Given the description of an element on the screen output the (x, y) to click on. 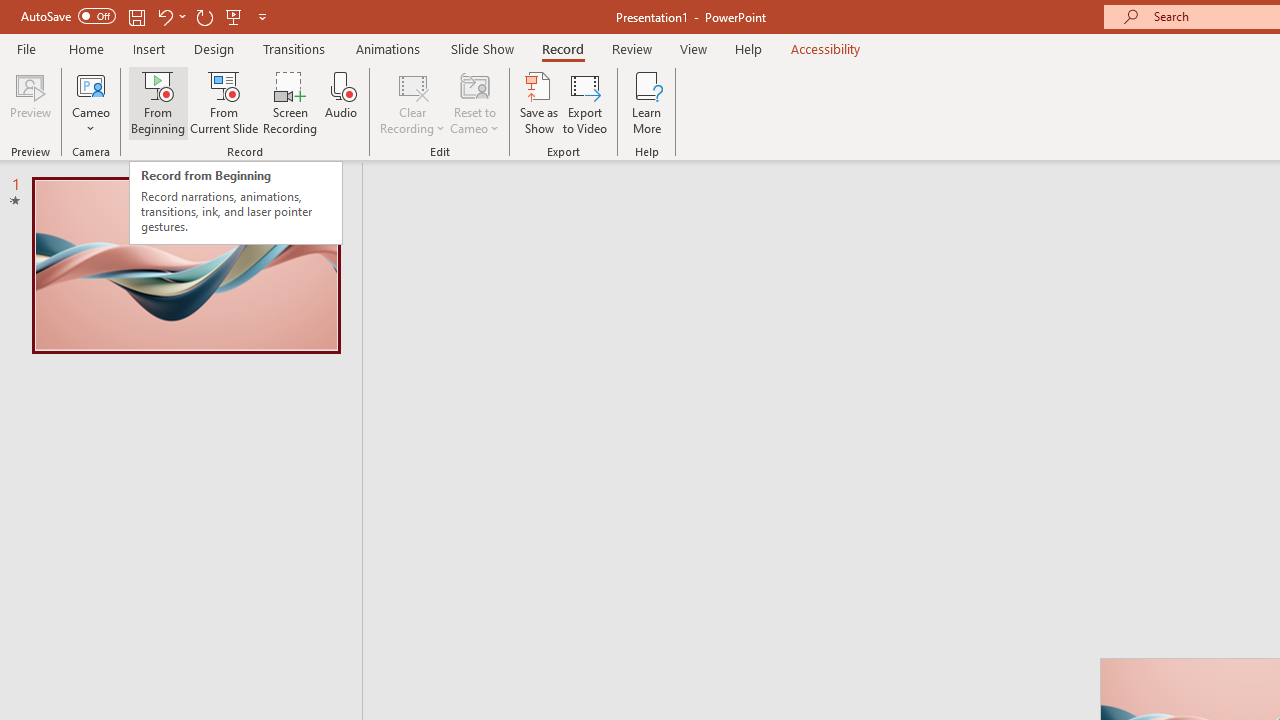
Learn More (646, 102)
